Given the description of an element on the screen output the (x, y) to click on. 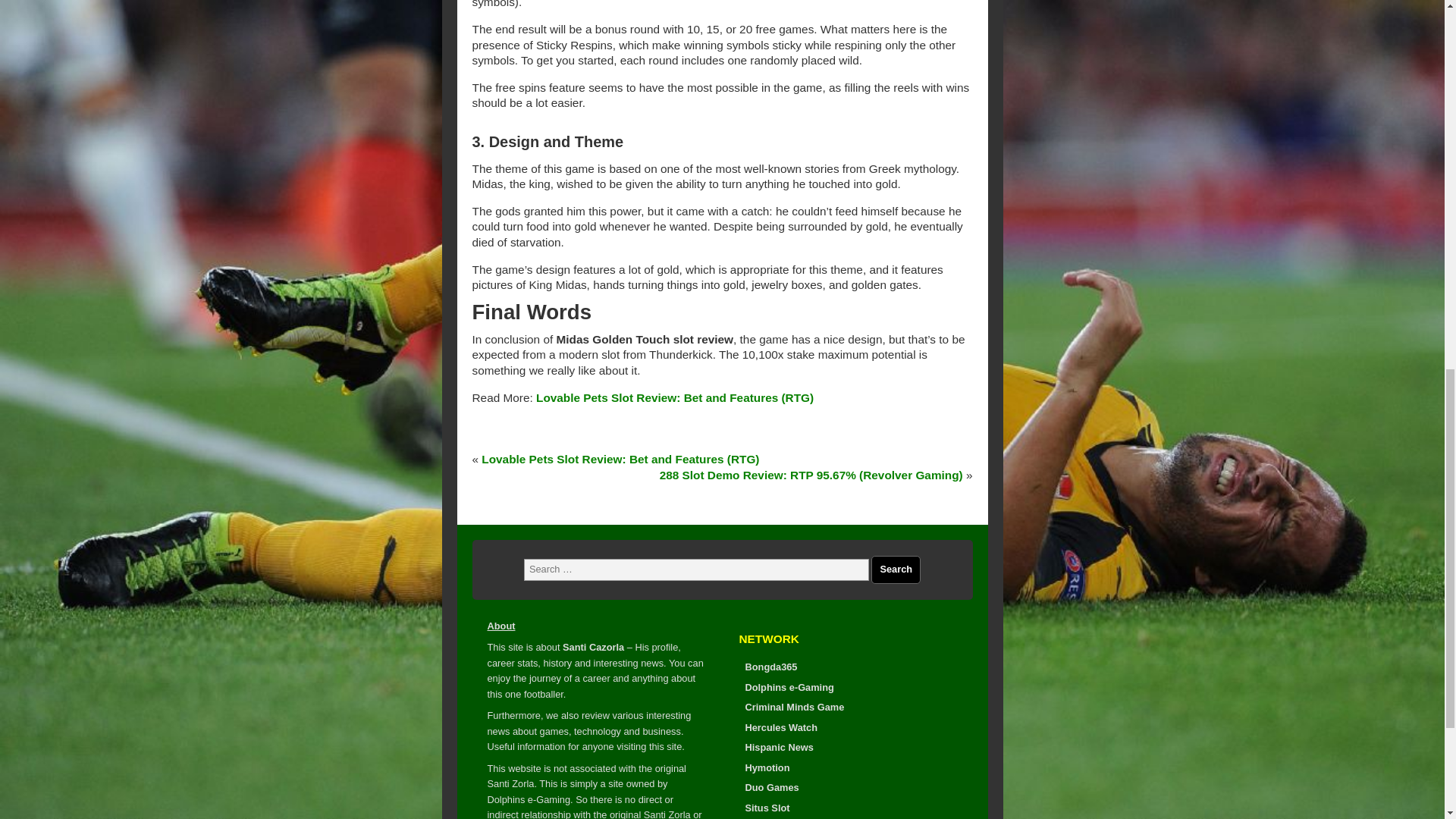
Hispanic News (778, 747)
Search (895, 569)
Dolphins e-Gaming (788, 686)
Criminal Minds Game (794, 706)
Search (895, 569)
Hymotion (766, 767)
Hercules Watch (780, 727)
Duo Games (770, 787)
Bongda365 (770, 666)
Santi Cazorla (593, 646)
About (500, 625)
Search (895, 569)
Situs Slot (766, 808)
